Given the description of an element on the screen output the (x, y) to click on. 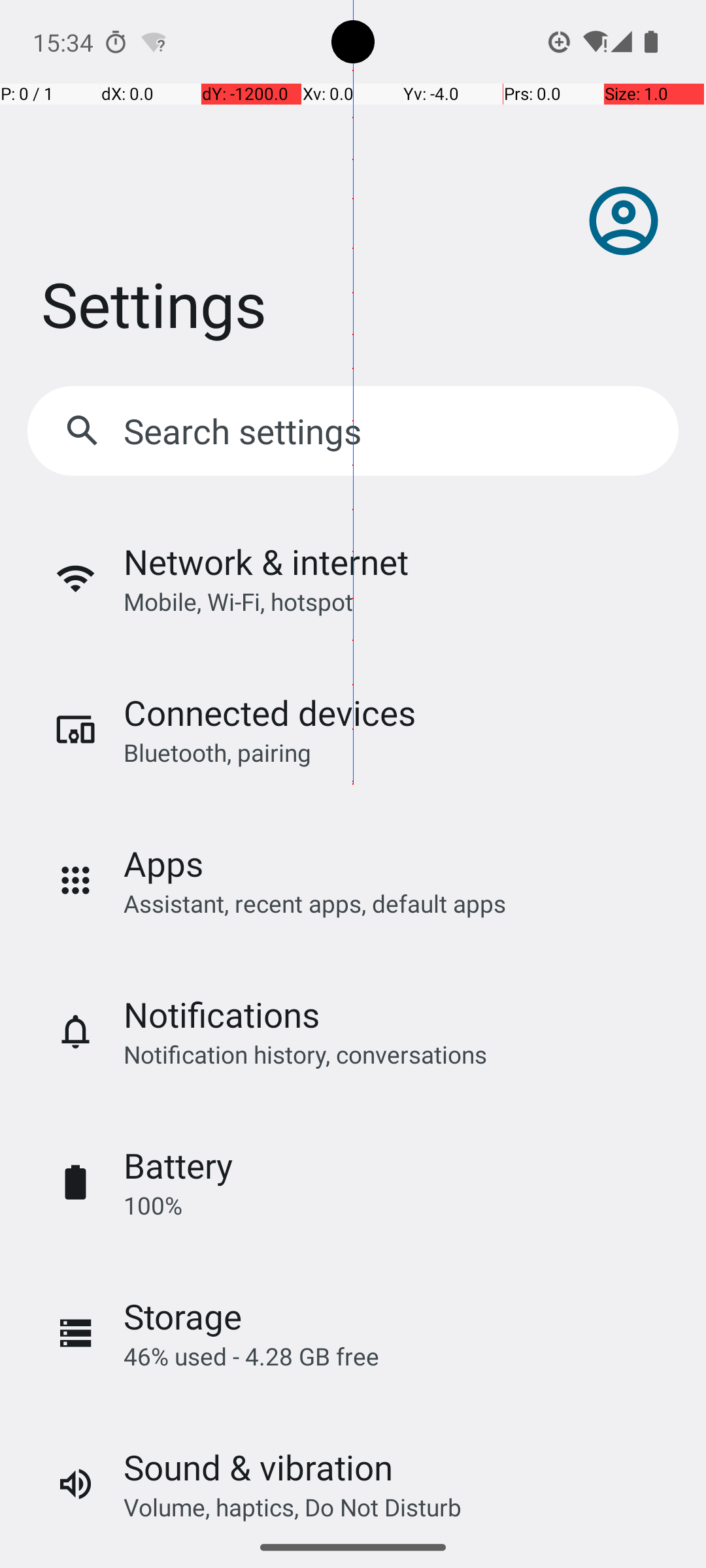
46% used - 4.28 GB free Element type: android.widget.TextView (251, 1355)
